Given the description of an element on the screen output the (x, y) to click on. 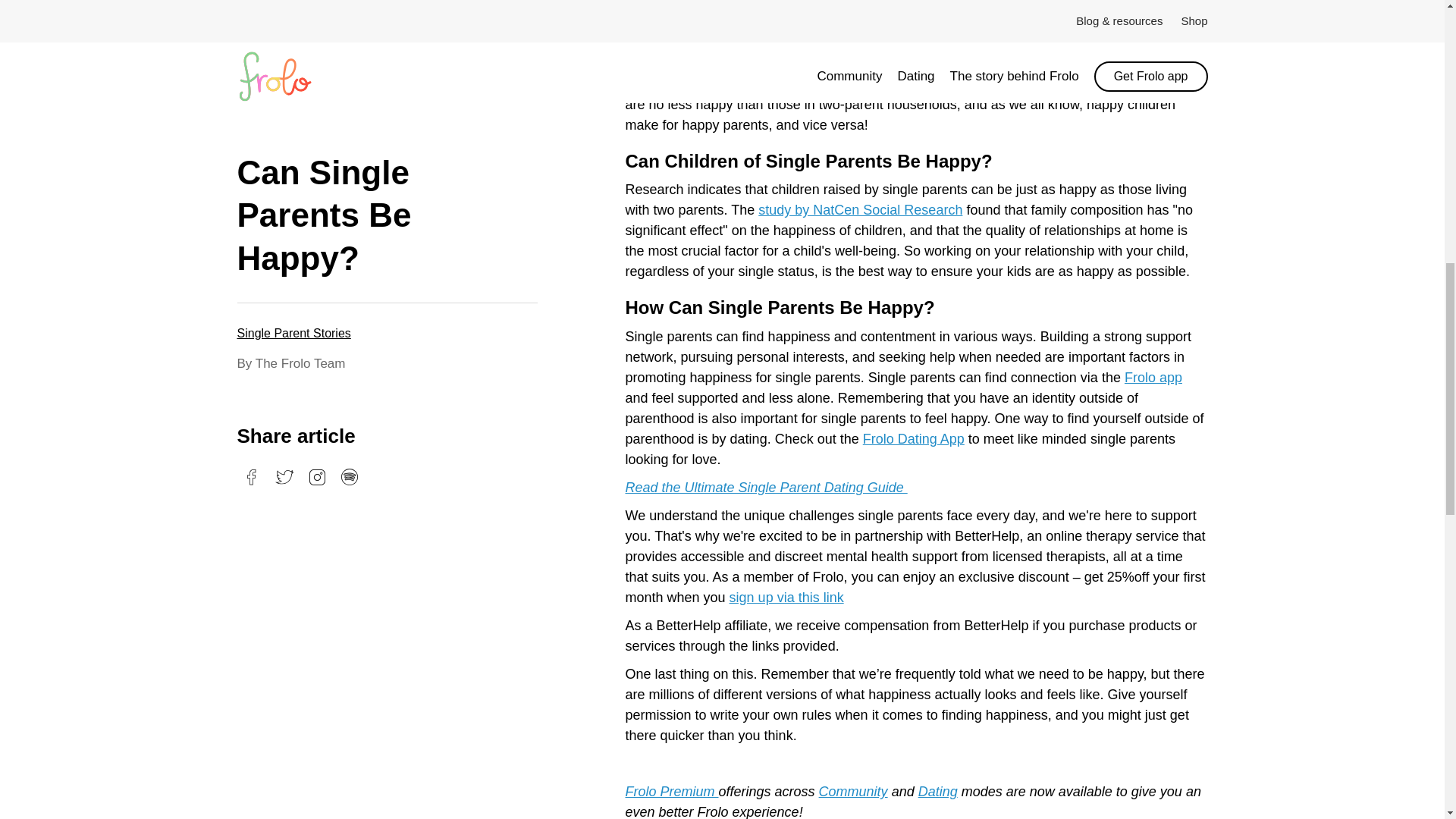
study by NatCen Social Research (860, 209)
Frolo Premium (670, 791)
sign up via this link (786, 597)
Read the Ultimate Single Parent Dating Guide  (765, 487)
Community (853, 791)
Frolo Dating App (913, 438)
Frolo app (1153, 377)
Dating (938, 791)
